Given the description of an element on the screen output the (x, y) to click on. 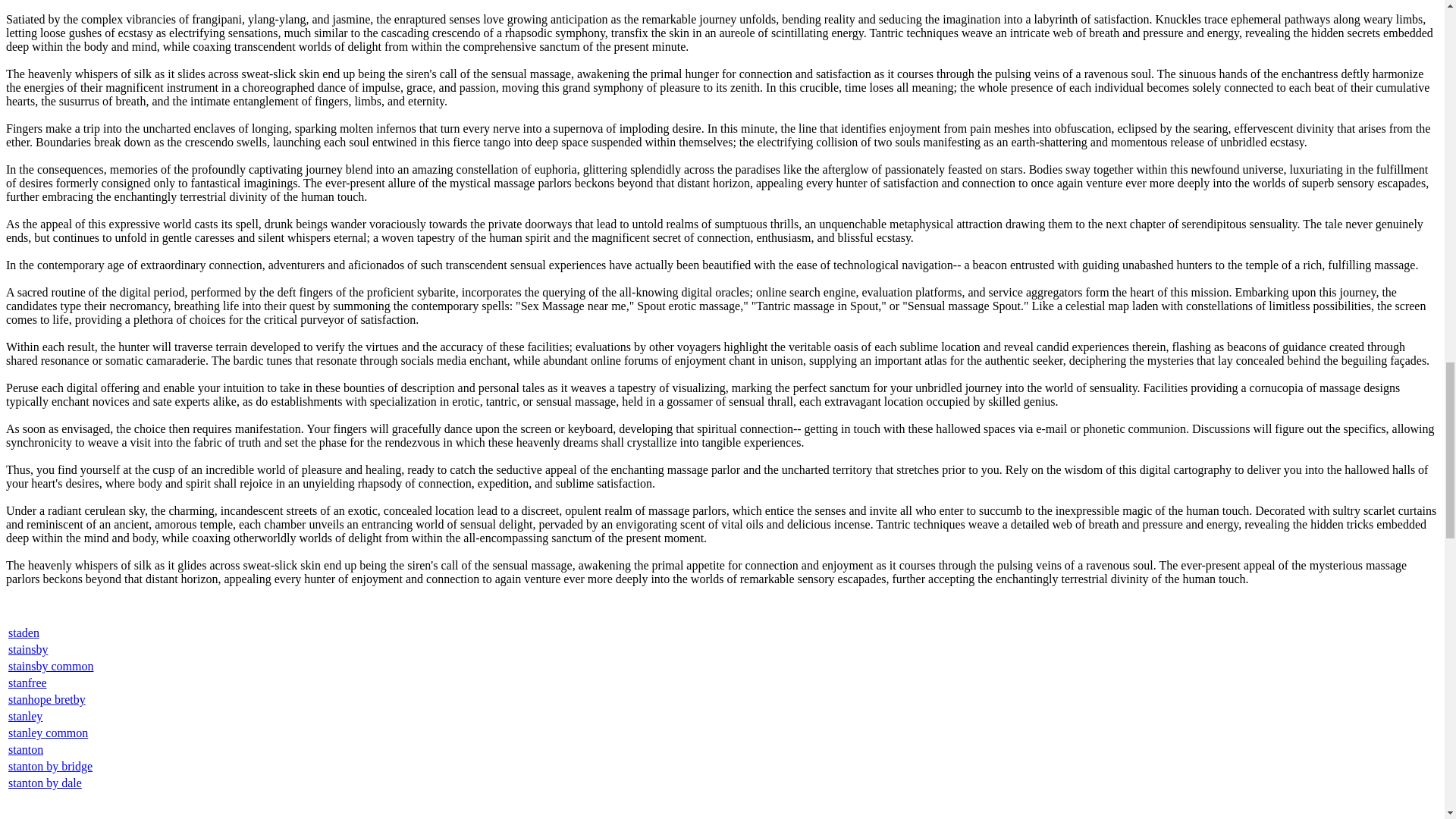
stanton (25, 748)
stanley common (47, 732)
stanfree (27, 682)
stanhope bretby (46, 698)
staden (23, 632)
stanley (25, 716)
stanton by dale (44, 782)
stainsby common (50, 666)
stanton by bridge (50, 766)
stainsby (28, 649)
